Given the description of an element on the screen output the (x, y) to click on. 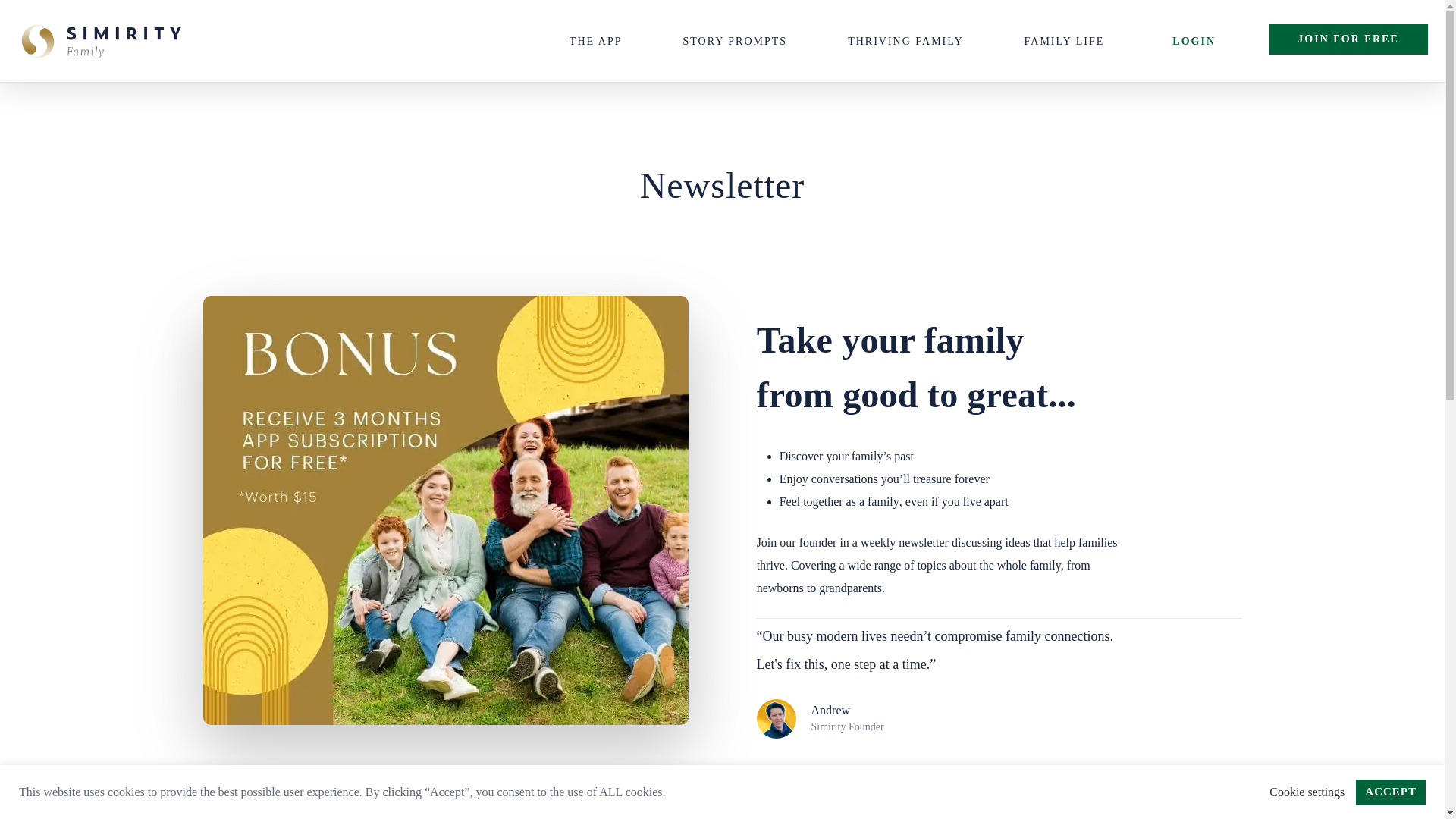
THRIVING FAMILY (909, 41)
THE APP (599, 41)
STORY PROMPTS (738, 41)
